Given the description of an element on the screen output the (x, y) to click on. 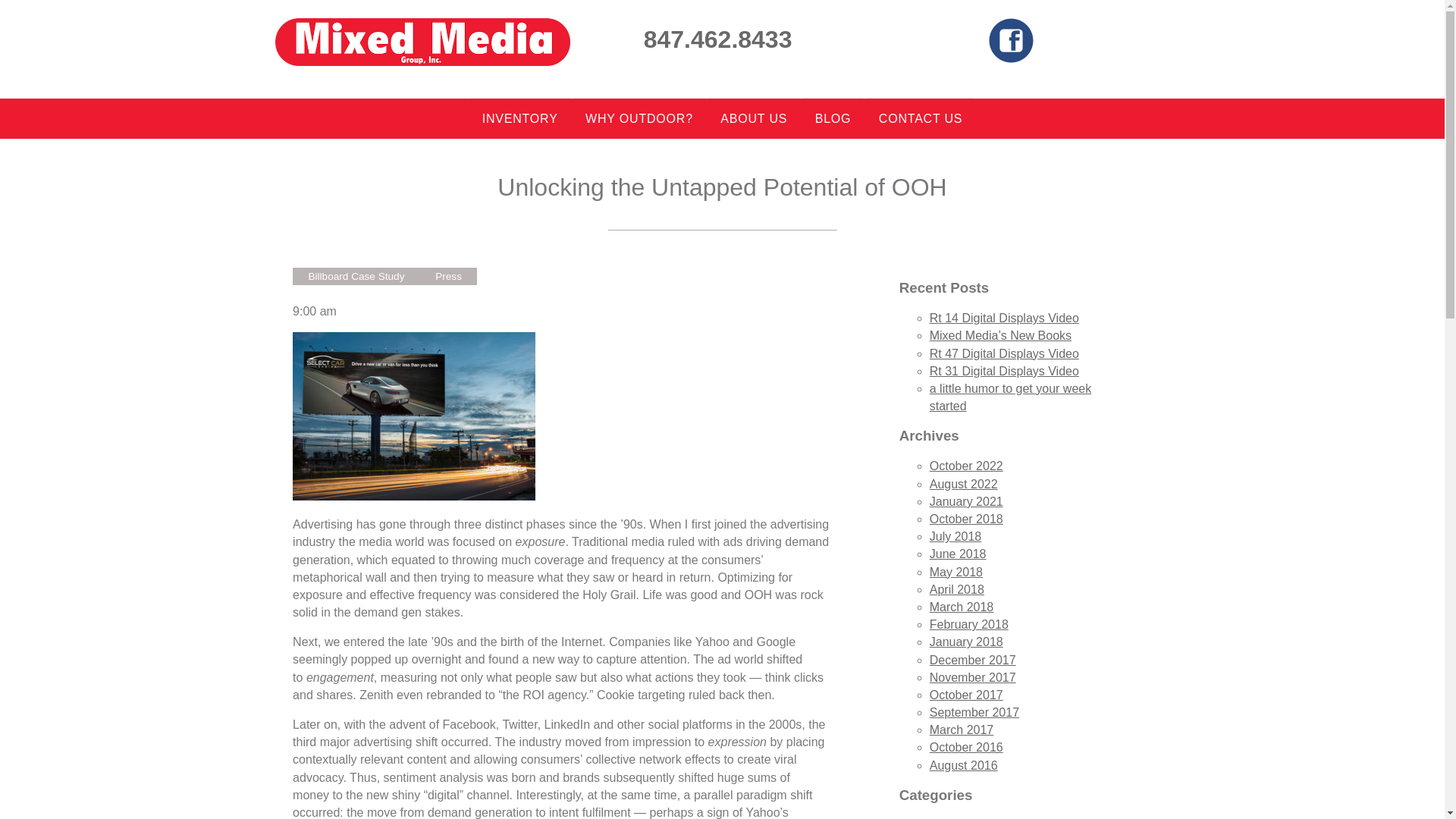
November 2017 (973, 676)
October 2017 (966, 694)
March 2017 (962, 729)
April 2018 (957, 589)
December 2017 (973, 659)
March 2018 (962, 606)
September 2017 (974, 712)
a little humor to get your week started (1010, 397)
January 2021 (966, 501)
BLOG (833, 117)
August 2016 (963, 765)
CONTACT US (920, 117)
WHY OUTDOOR? (638, 117)
January 2018 (966, 641)
July 2018 (955, 535)
